Given the description of an element on the screen output the (x, y) to click on. 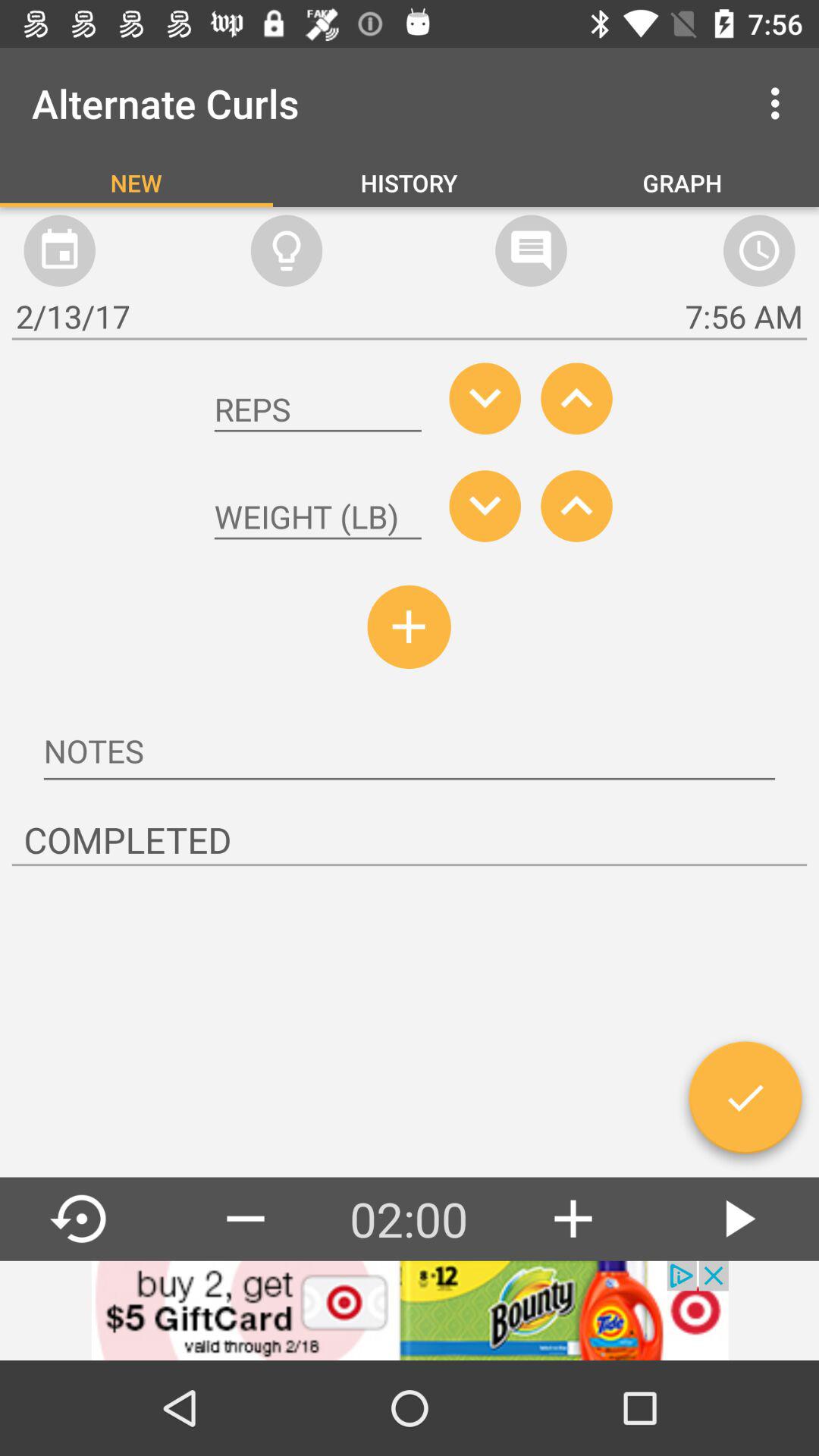
ok option (745, 1103)
